Given the description of an element on the screen output the (x, y) to click on. 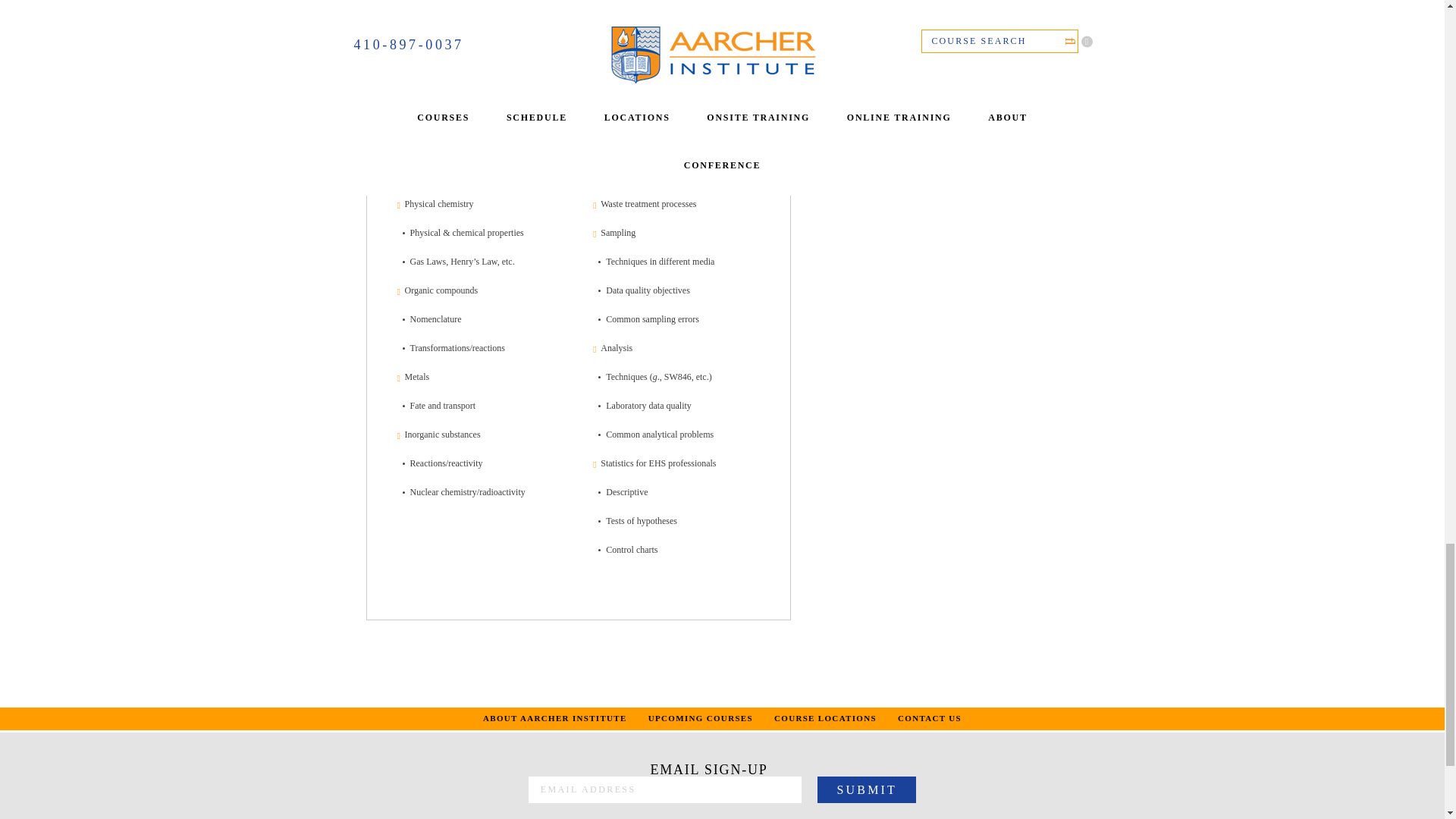
Submit (865, 789)
